Given the description of an element on the screen output the (x, y) to click on. 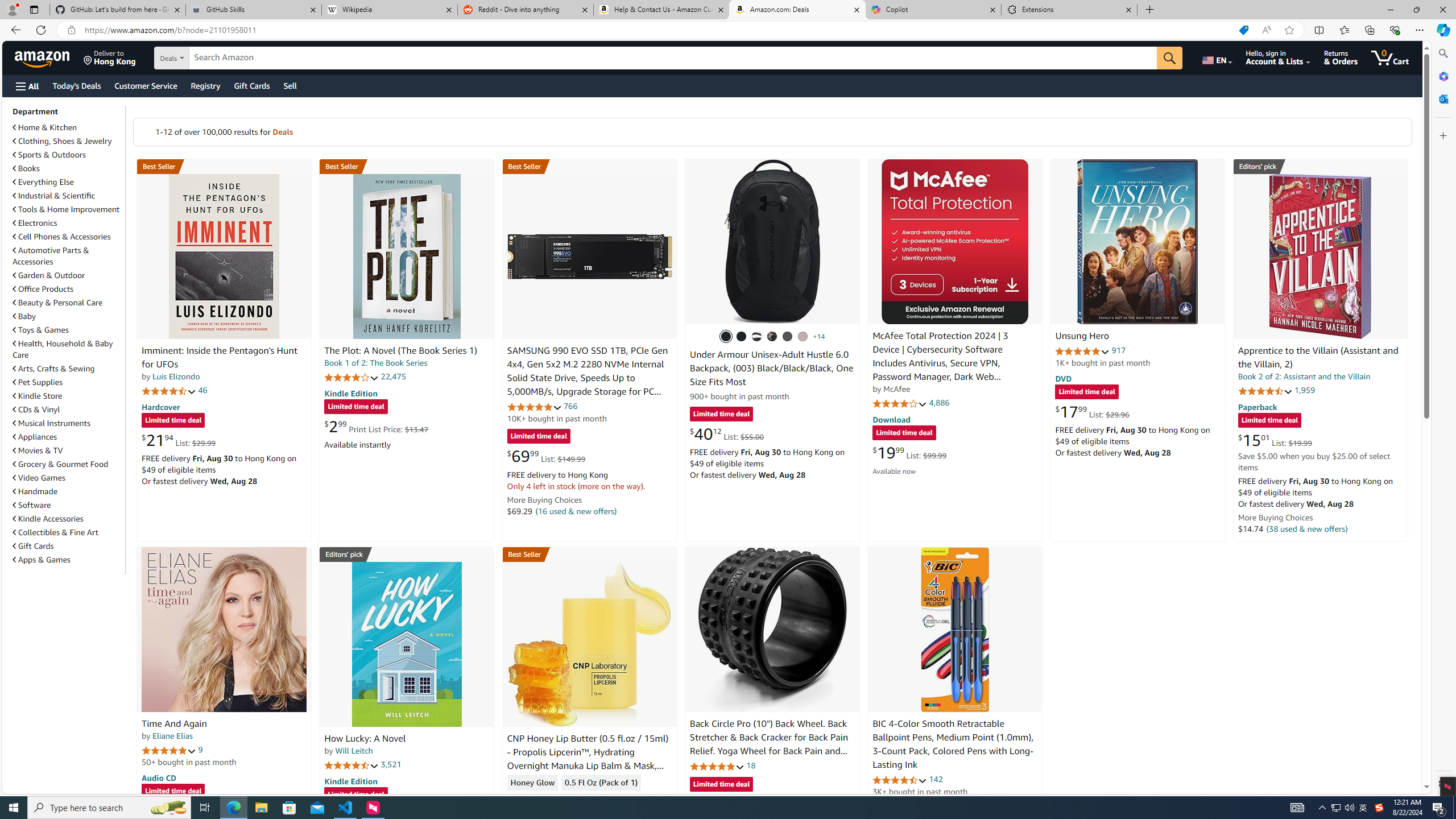
4.1 out of 5 stars (899, 403)
+14 (818, 336)
142 (935, 778)
Audio CD (158, 777)
Hardcover (160, 406)
Everything Else (43, 181)
Apprentice to the Villain (Assistant and the Villain, 2) (1318, 358)
Movies & TV (37, 450)
Unsung Hero (1082, 336)
Health, Household & Baby Care (67, 348)
Editors' pick Best Science Fiction & Fantasy (1320, 165)
Baby (67, 315)
Kindle Store (37, 395)
